Given the description of an element on the screen output the (x, y) to click on. 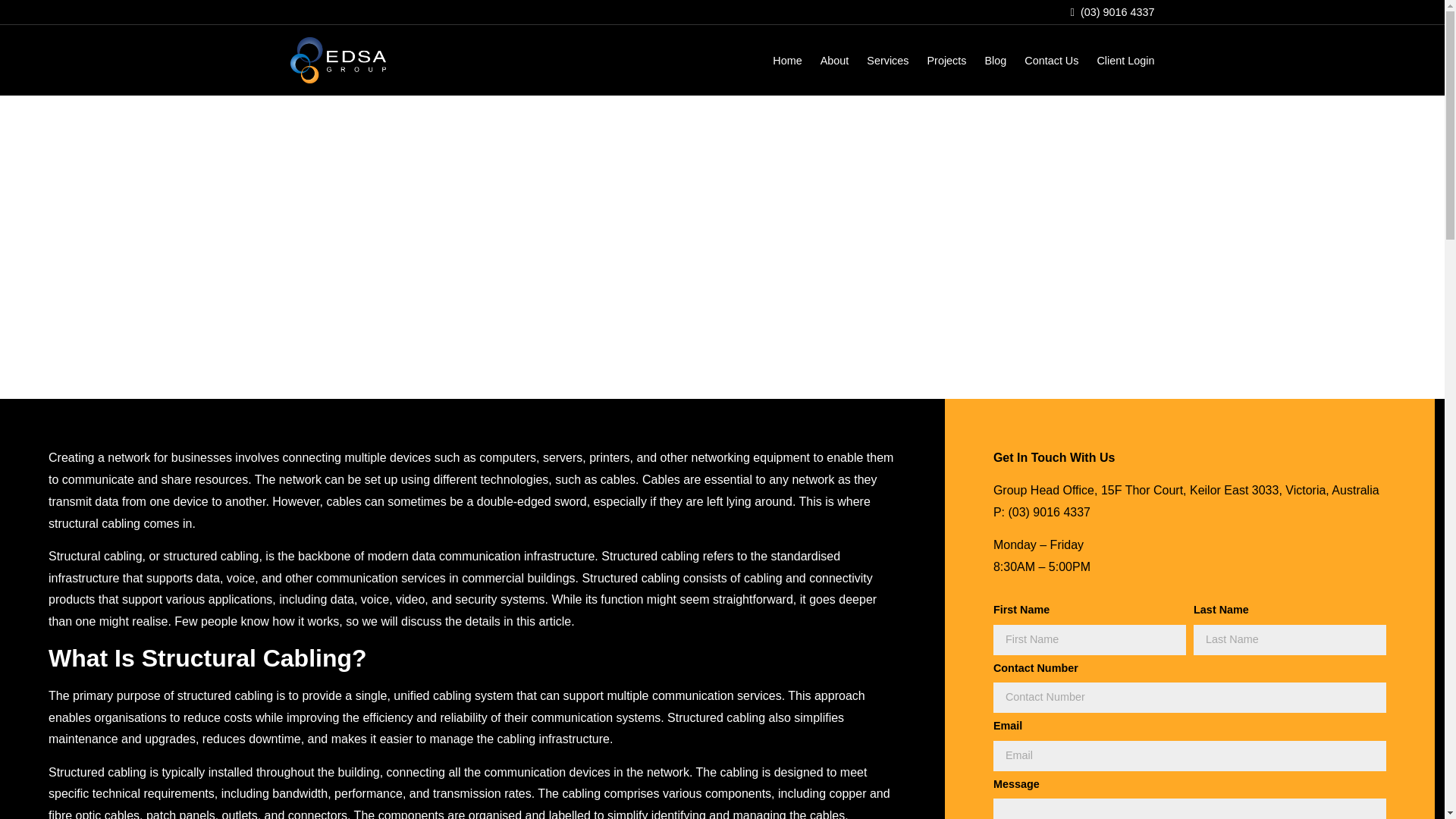
Blog (995, 60)
Projects (946, 60)
Home (787, 60)
Contact Us (1051, 60)
About (834, 60)
Services (887, 60)
Client Login (1125, 60)
